Given the description of an element on the screen output the (x, y) to click on. 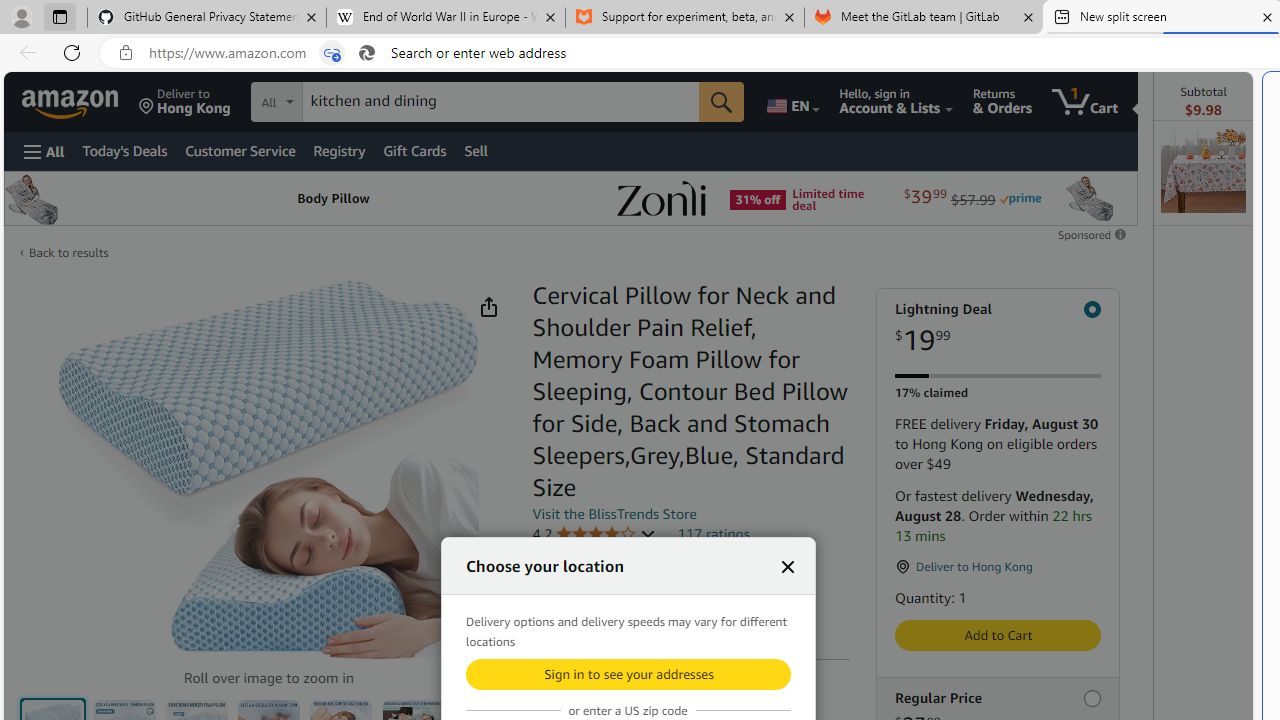
Logo (661, 198)
4.2 4.2 out of 5 stars (593, 534)
